Given the description of an element on the screen output the (x, y) to click on. 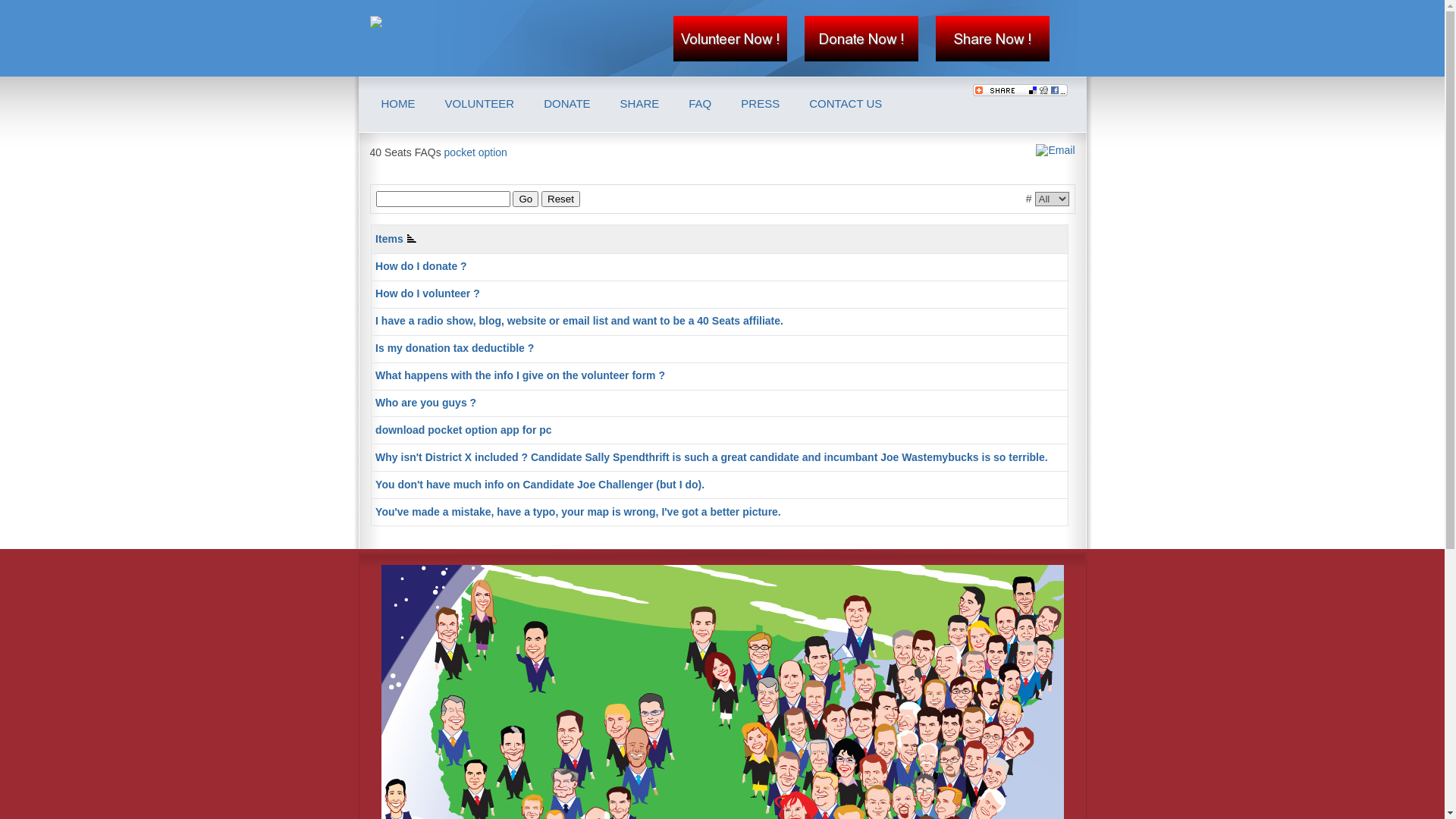
Reset Element type: text (560, 199)
Email::Recommend this screen Element type: hover (1053, 150)
How do I donate ? Element type: text (421, 266)
Go Element type: text (525, 199)
FAQ Element type: text (699, 103)
download pocket option app for pc Element type: text (463, 429)
Items Element type: text (395, 238)
Who are you guys ? Element type: text (425, 402)
SHARE Element type: text (639, 103)
CONTACT US Element type: text (845, 103)
VOLUNTEER Element type: text (479, 103)
Is my donation tax deductible ? Element type: text (454, 348)
HOME Element type: text (397, 103)
pocket option Element type: text (475, 152)
DONATE Element type: text (566, 103)
PRESS Element type: text (759, 103)
How do I volunteer ? Element type: text (427, 293)
What happens with the info I give on the volunteer form ? Element type: text (520, 375)
